Given the description of an element on the screen output the (x, y) to click on. 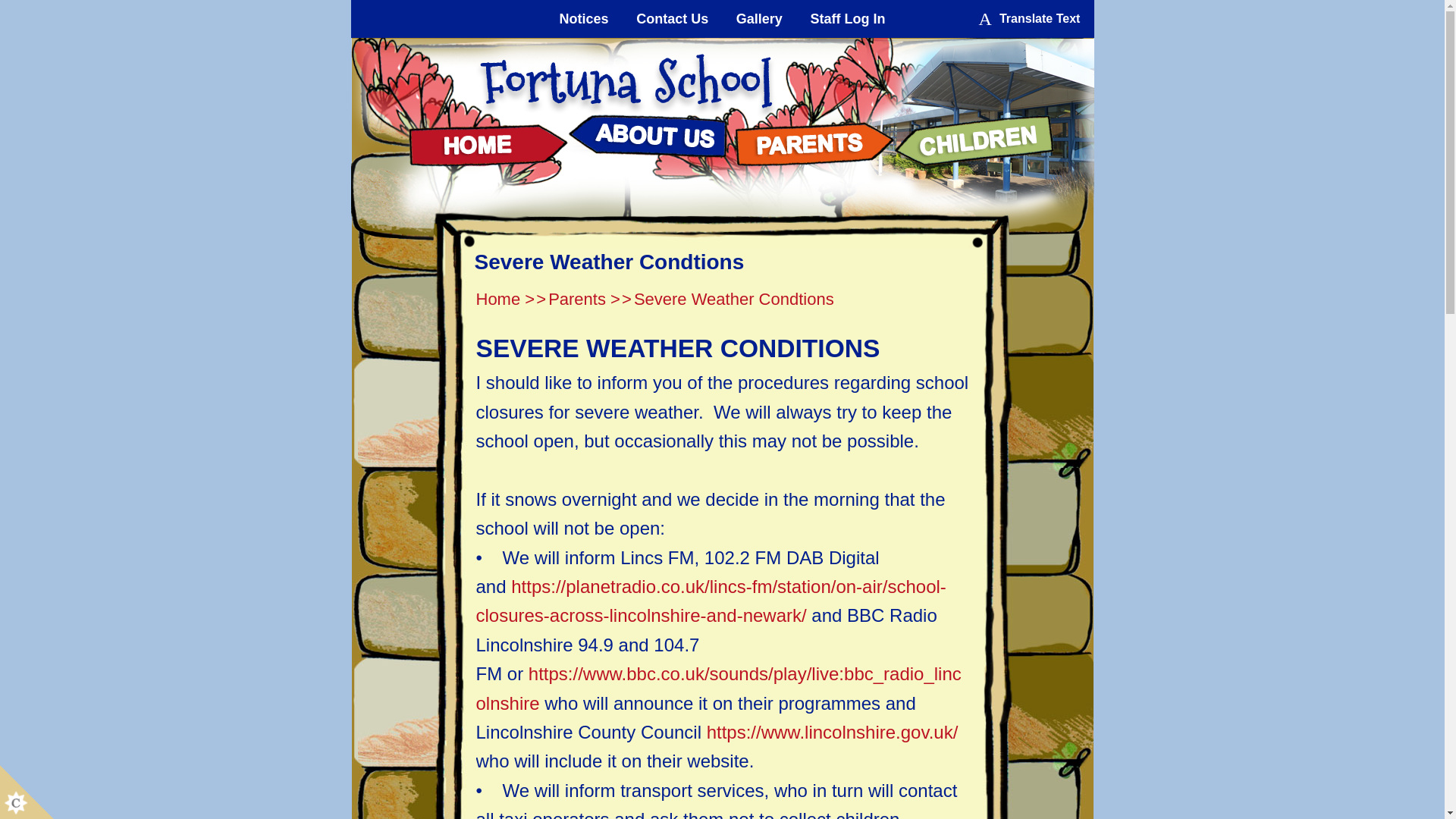
Notices (583, 19)
Parents (576, 298)
Severe Weather Condtions (733, 298)
Contact Us (671, 19)
Home (498, 298)
About us (648, 140)
Home Page (624, 80)
Log In (847, 19)
Gallery (759, 19)
Home (487, 140)
